Given the description of an element on the screen output the (x, y) to click on. 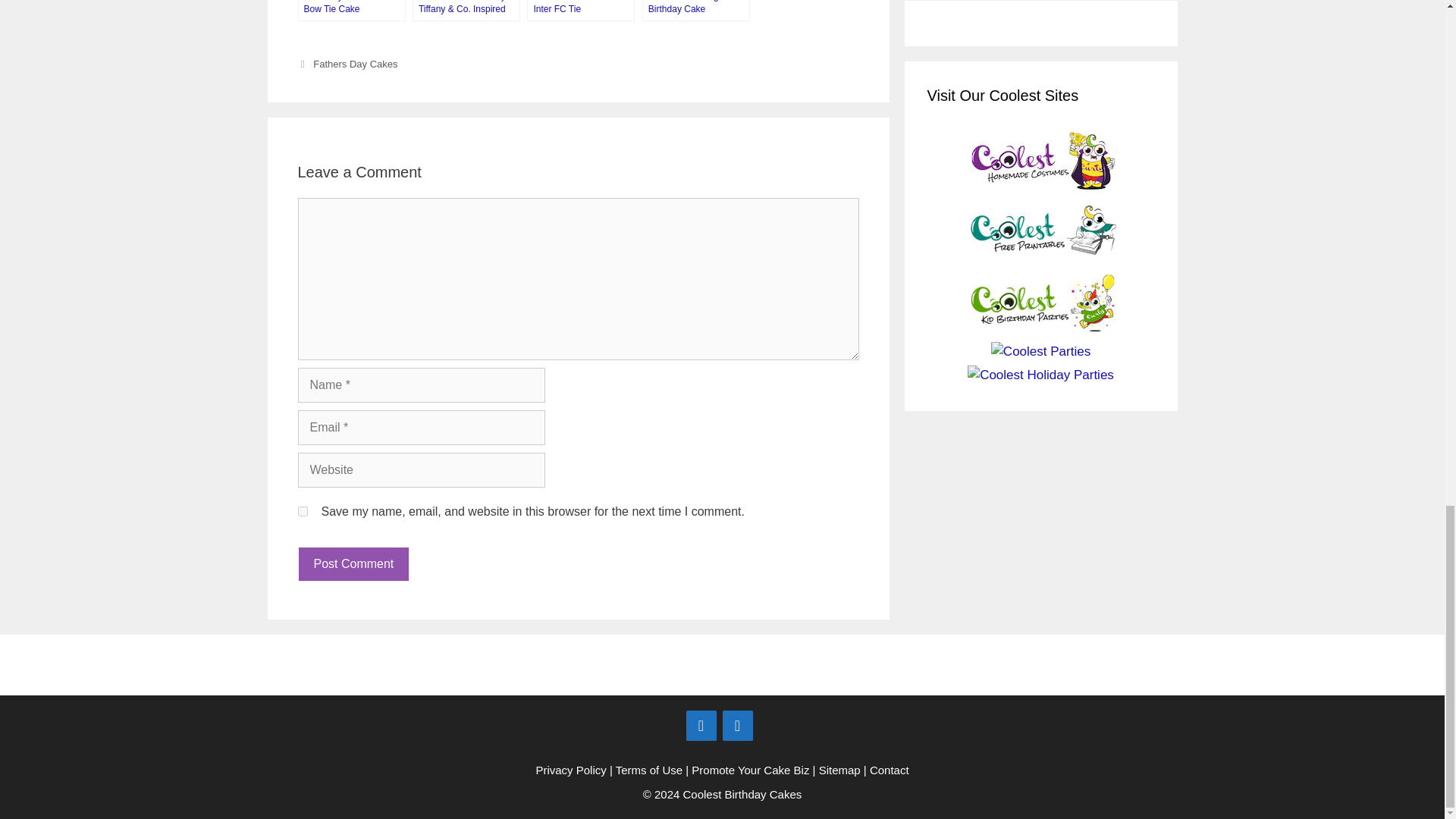
Coolest Handbag Birthday Cake (695, 10)
Instagram (737, 725)
Coolest Shirt Cake With Inter FC Tie (580, 10)
yes (302, 511)
Incredibly Awesome Bow Tie Cake (350, 10)
Facebook (700, 725)
Post Comment (353, 564)
